Given the description of an element on the screen output the (x, y) to click on. 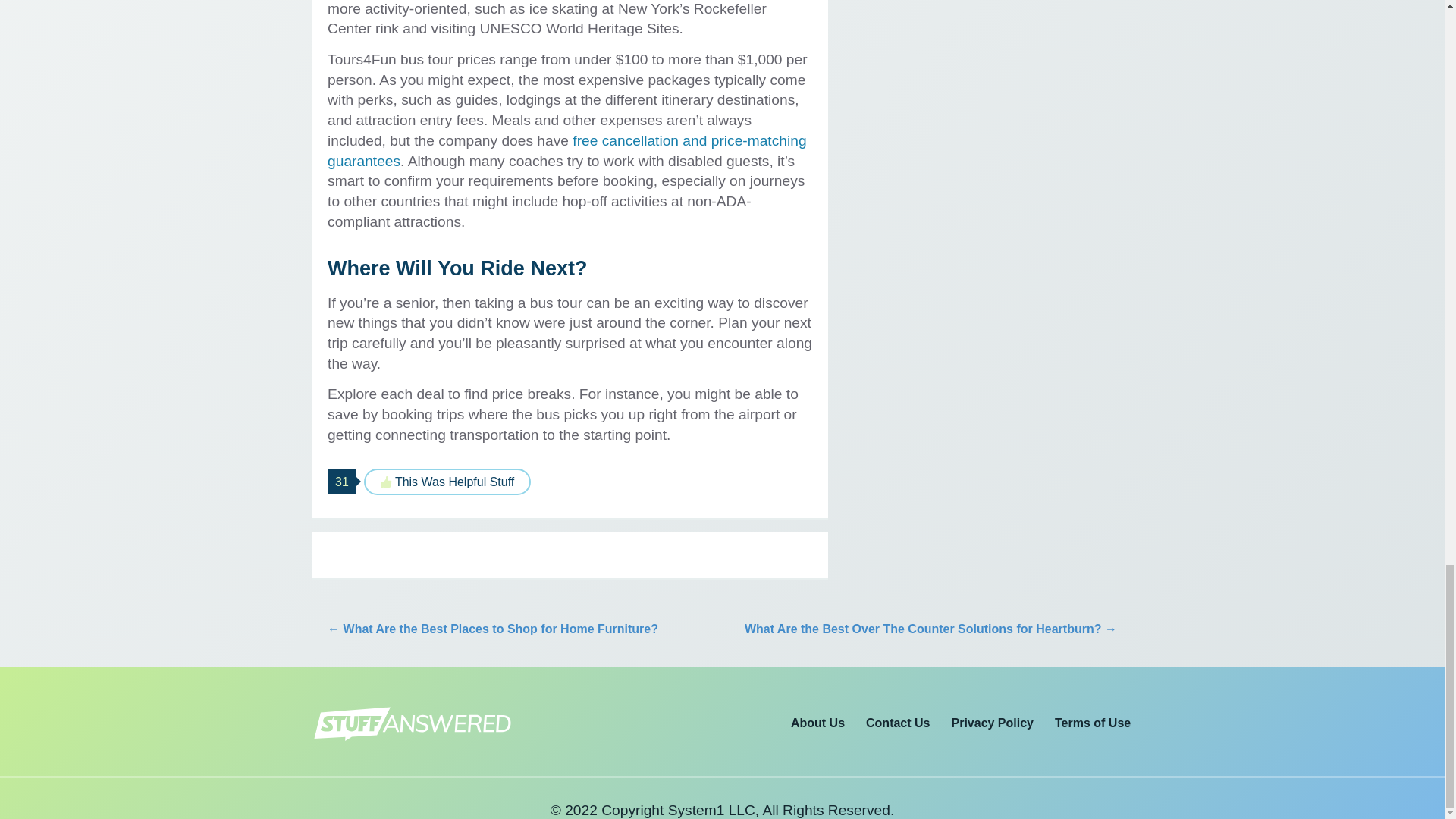
free cancellation and price-matching guarantees (566, 150)
